Given the description of an element on the screen output the (x, y) to click on. 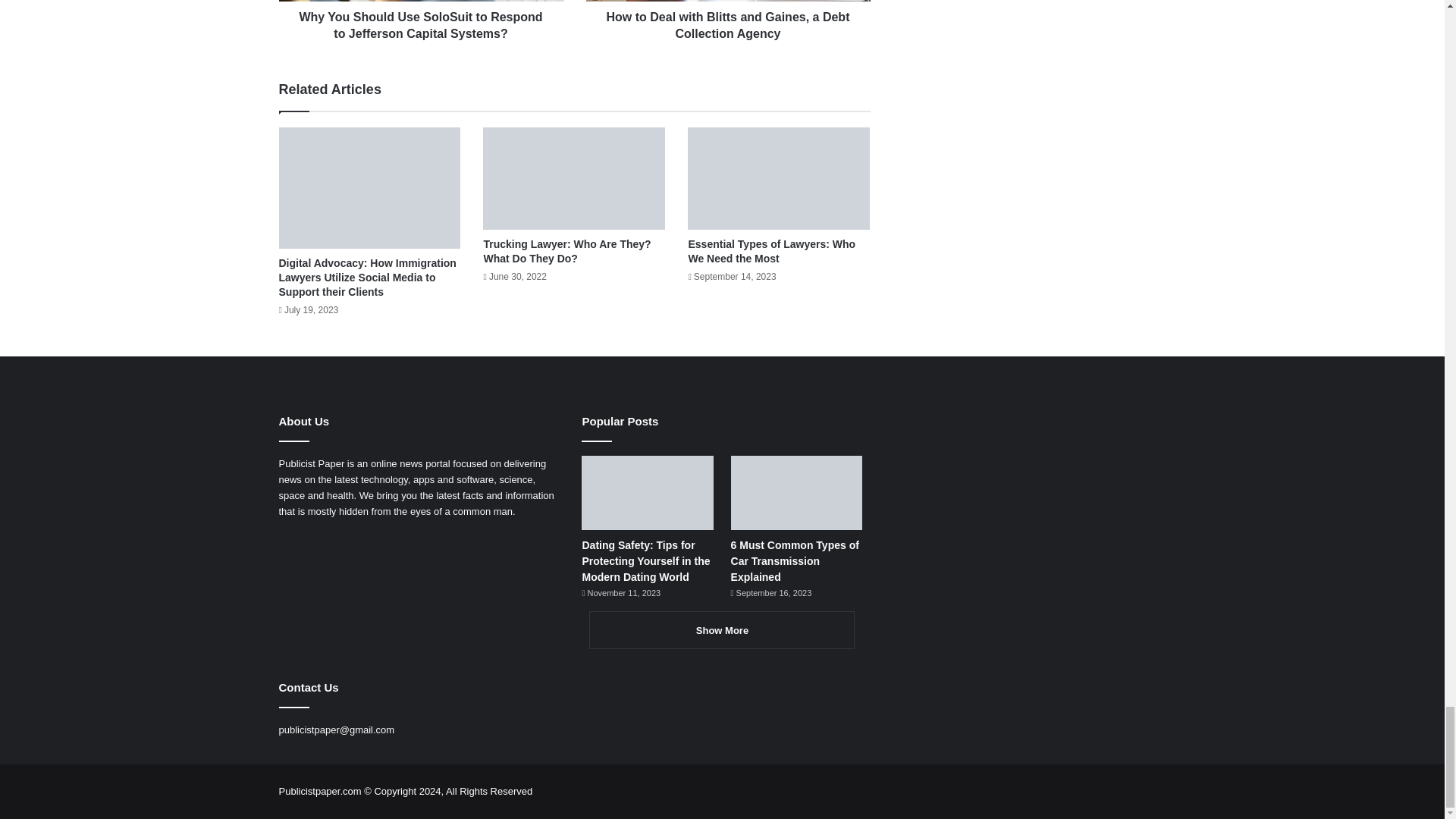
How to Deal with Blitts and Gaines, a Debt Collection Agency (727, 21)
